Given the description of an element on the screen output the (x, y) to click on. 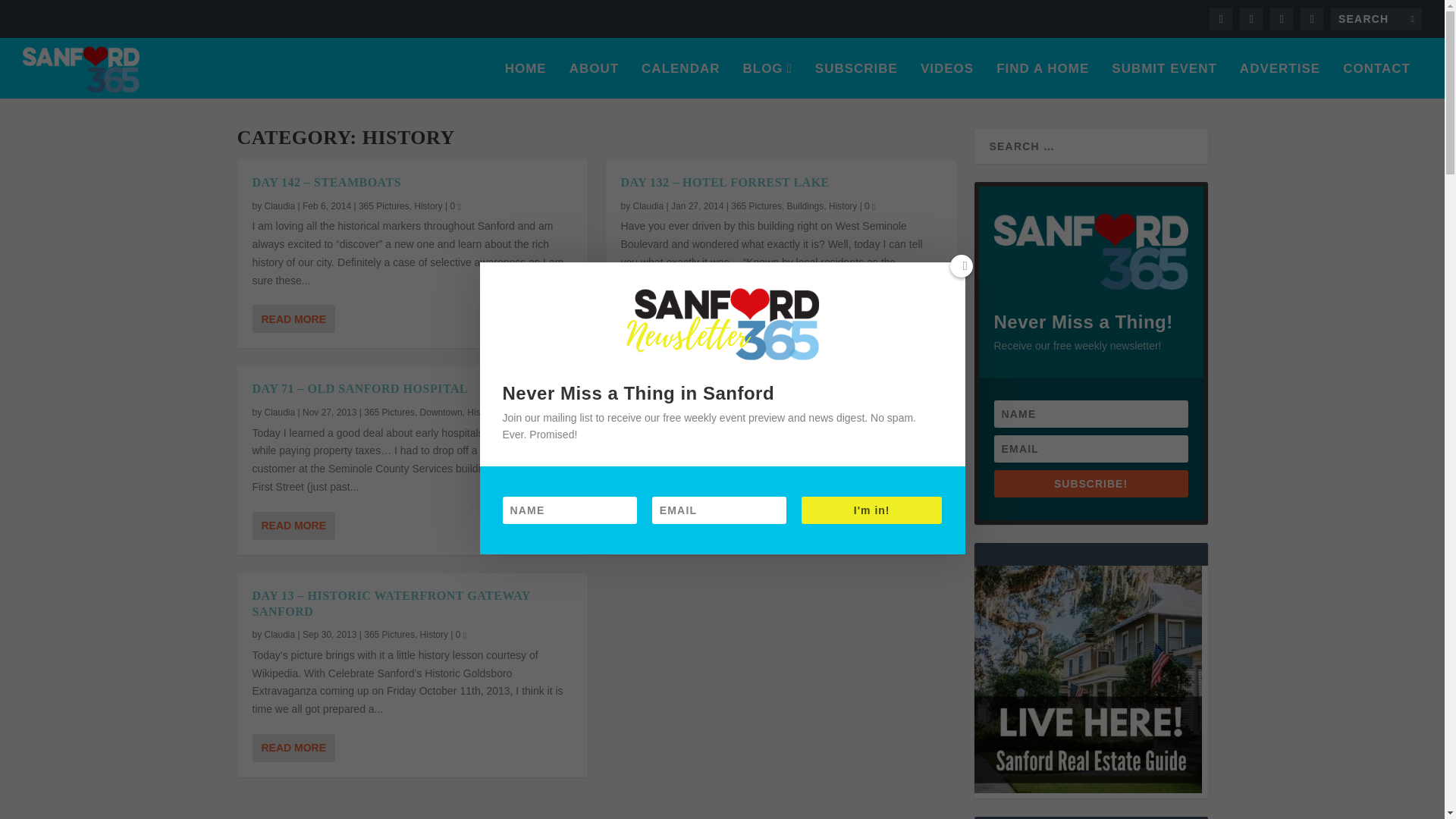
Posts by Claudia (648, 205)
SUBMIT EVENT (1164, 80)
BLOG (767, 80)
Posts by Claudia (279, 205)
Search for: (1376, 18)
Posts by Claudia (279, 412)
ADVERTISE (1280, 80)
CONTACT (1376, 80)
VIDEOS (947, 80)
Posts by Claudia (279, 634)
FIND A HOME (1042, 80)
HOME (526, 80)
CALENDAR (680, 80)
SUBSCRIBE (856, 80)
Posts by Claudia (648, 412)
